Given the description of an element on the screen output the (x, y) to click on. 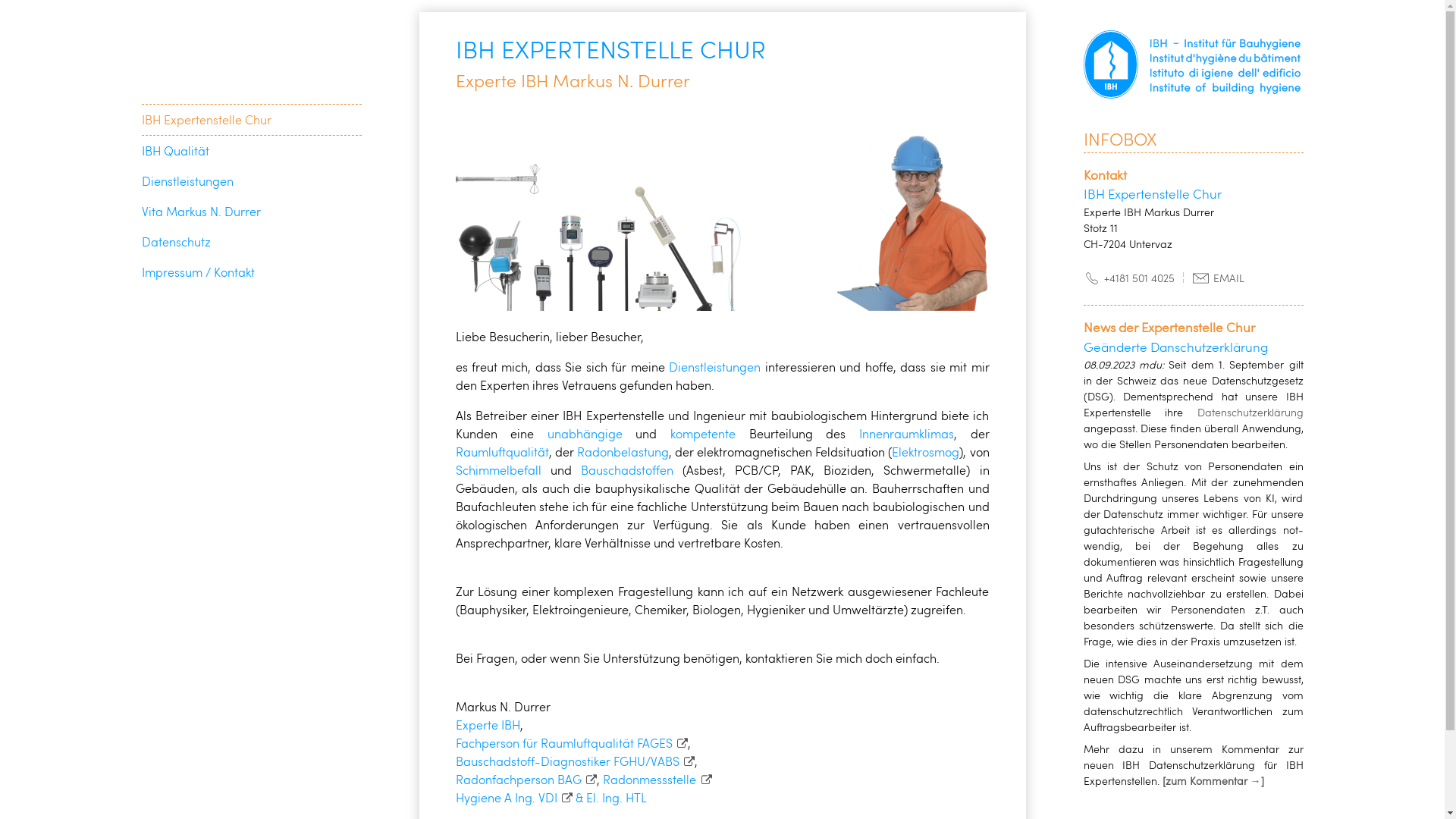
Radonbelastung Element type: text (622, 450)
Radonfachperson BAG Element type: text (525, 778)
Bauschadstoffen Element type: text (626, 468)
Experte IBH Element type: text (487, 723)
Innenraumklimas Element type: text (906, 432)
Bauschadstoff-Diagnostiker FGHU/VABS Element type: text (574, 760)
Dienstleistungen Element type: text (186, 180)
Vita Markus N. Durrer Element type: text (200, 211)
Hygiene A Ing. VDI Element type: text (513, 796)
Schimmelbefall Element type: text (497, 468)
EMAIL Element type: text (1218, 277)
Impressum / Kontakt Element type: text (197, 271)
+4181 501 4025 Element type: text (1128, 277)
kompetente Element type: text (702, 432)
Radonmessstelle Element type: text (657, 778)
Elektrosmog Element type: text (925, 450)
Dienstleistungen Element type: text (714, 365)
Datenschutz Element type: text (175, 241)
